Given the description of an element on the screen output the (x, y) to click on. 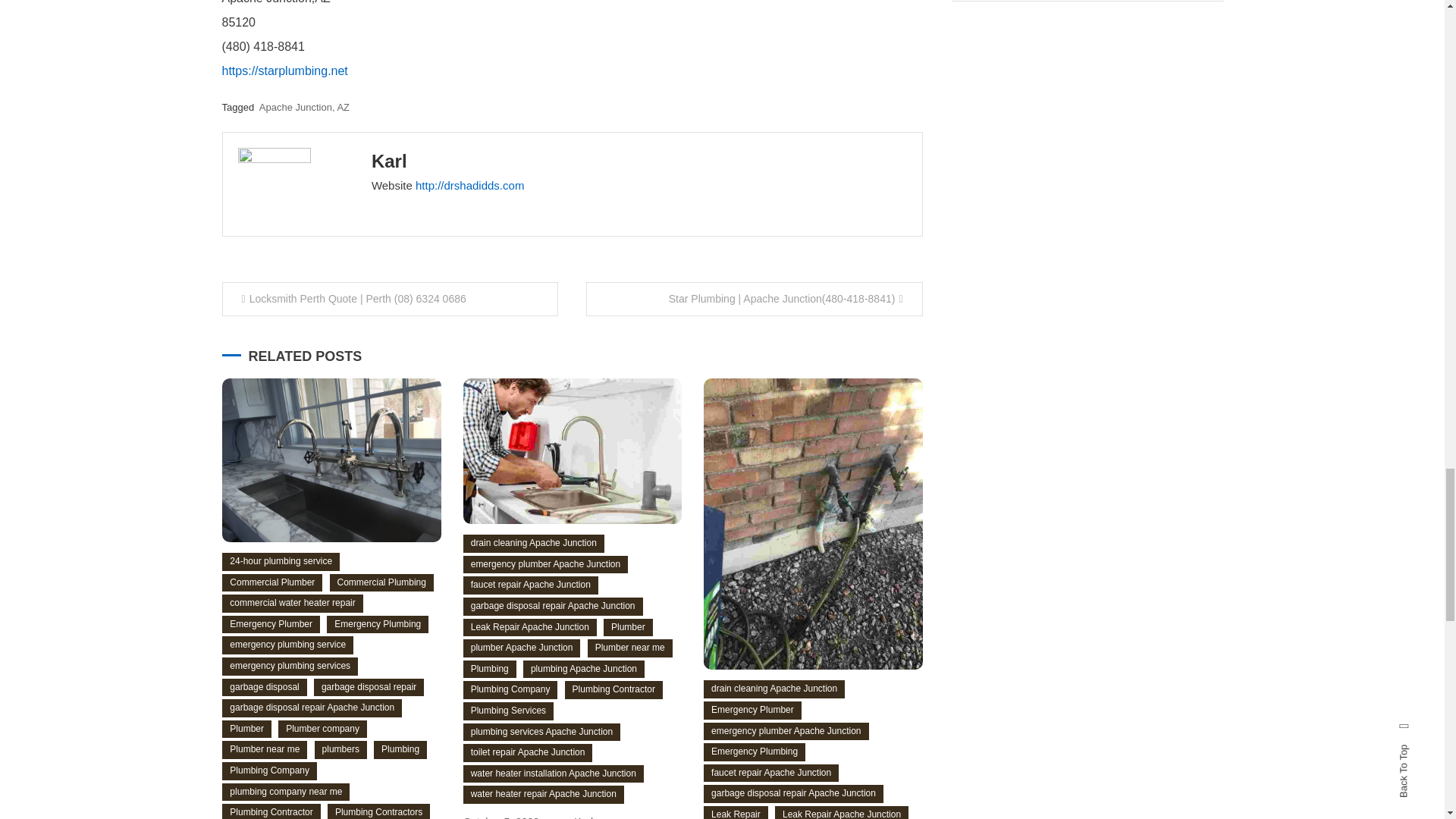
Posts by Karl (389, 160)
